Given the description of an element on the screen output the (x, y) to click on. 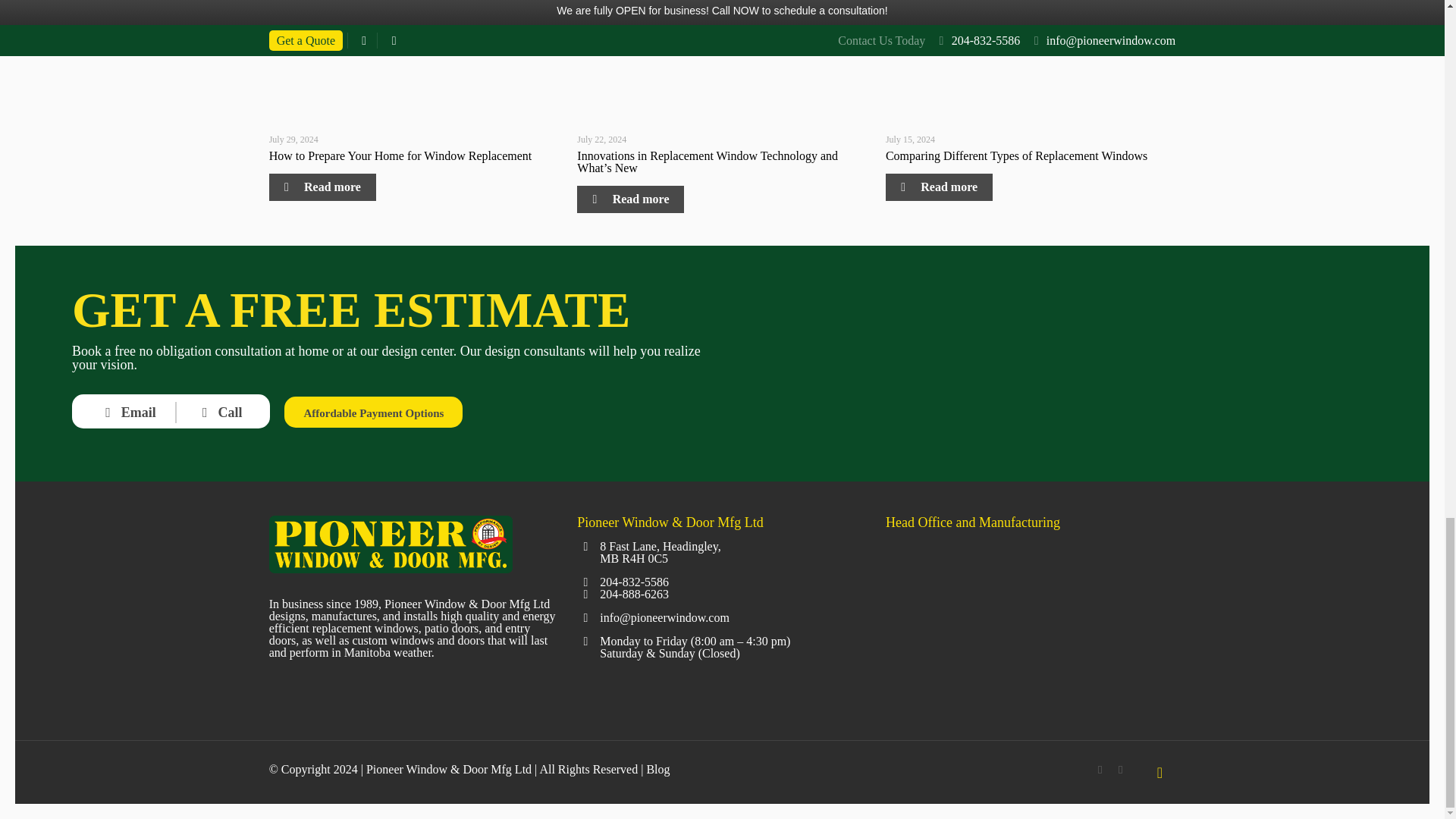
Facebook (1100, 769)
Instagram (1120, 769)
How to Prepare Your Home for Window Replacement (400, 155)
